Given the description of an element on the screen output the (x, y) to click on. 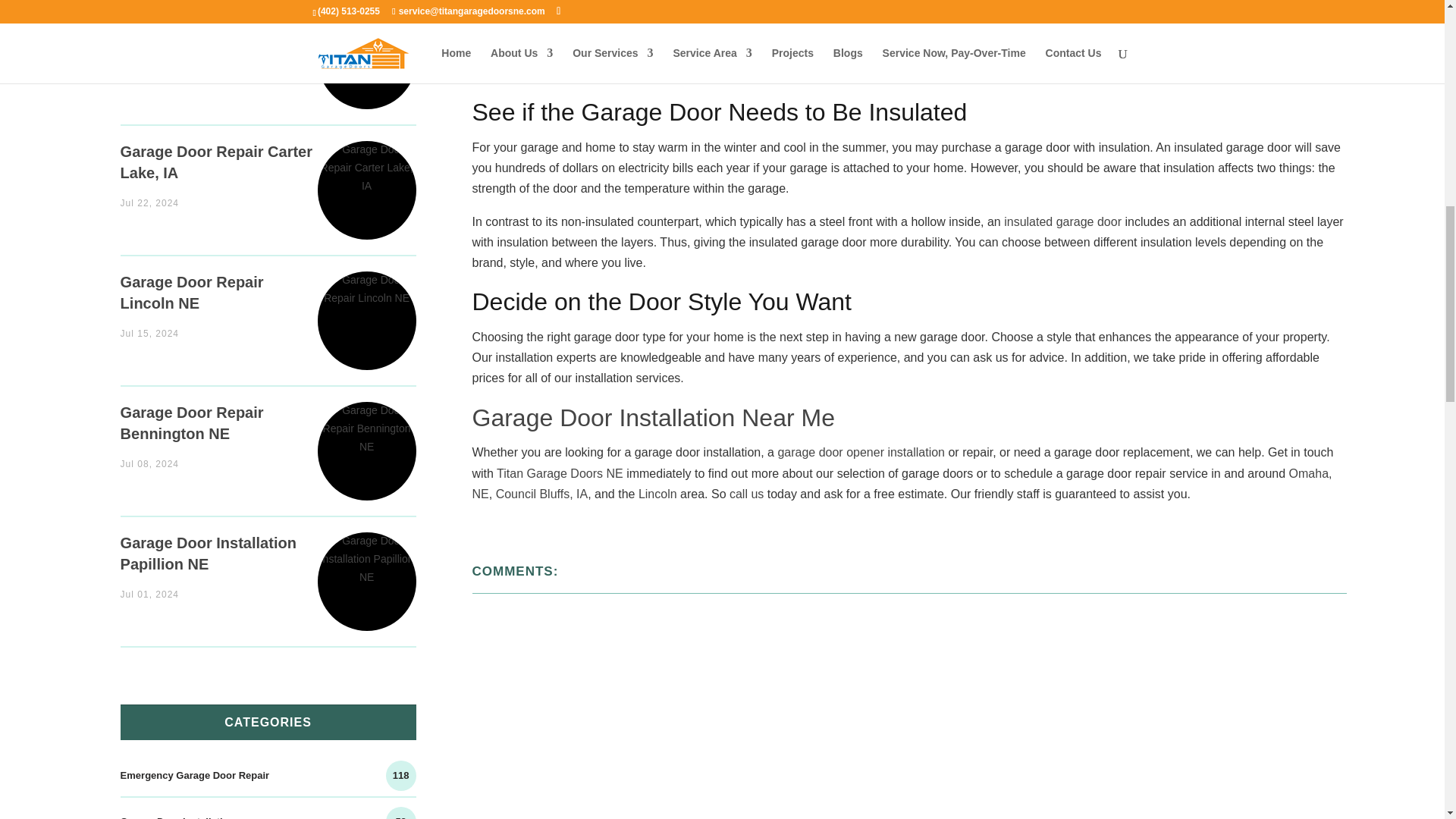
Garage Door Repair Bennington NE (366, 436)
Garage Door Repair Lincoln NE (366, 305)
call us (745, 493)
Lincoln (658, 493)
Garage Door Repair Bennington NE (191, 423)
garage door opener installation (860, 451)
New Garage Door Omaha, NE (213, 31)
insulated garage door (1062, 221)
Titan Garage Doors NE (1275, 72)
Garage Door Repair Carter Lake, IA (216, 161)
Garage Door Installation Papillion NE (366, 566)
Garage Door Installation Near Me (652, 417)
Garage Door Repair Carter Lake, IA (366, 174)
Omaha, NE (901, 483)
Garage Door Repair Lincoln NE (191, 292)
